Given the description of an element on the screen output the (x, y) to click on. 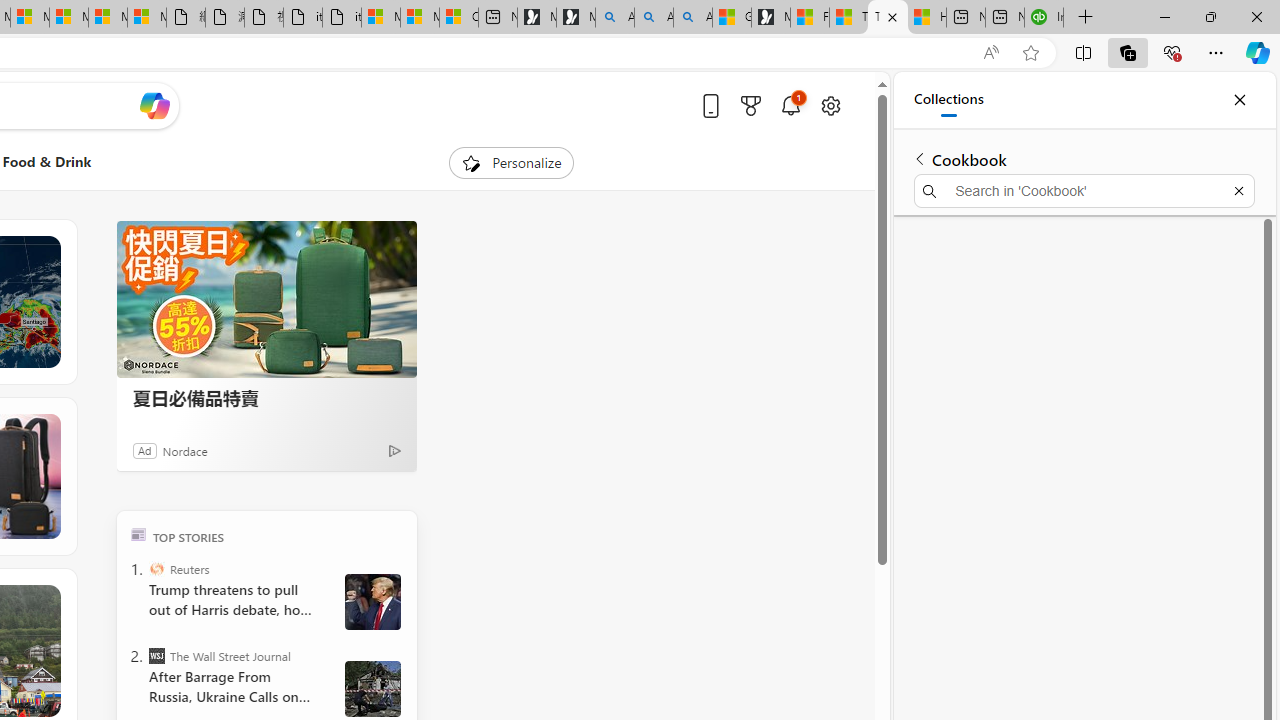
Food and Drink - MSN (810, 17)
Alabama high school quarterback dies - Search Videos (692, 17)
The Weather Channel - MSN (888, 17)
